Given the description of an element on the screen output the (x, y) to click on. 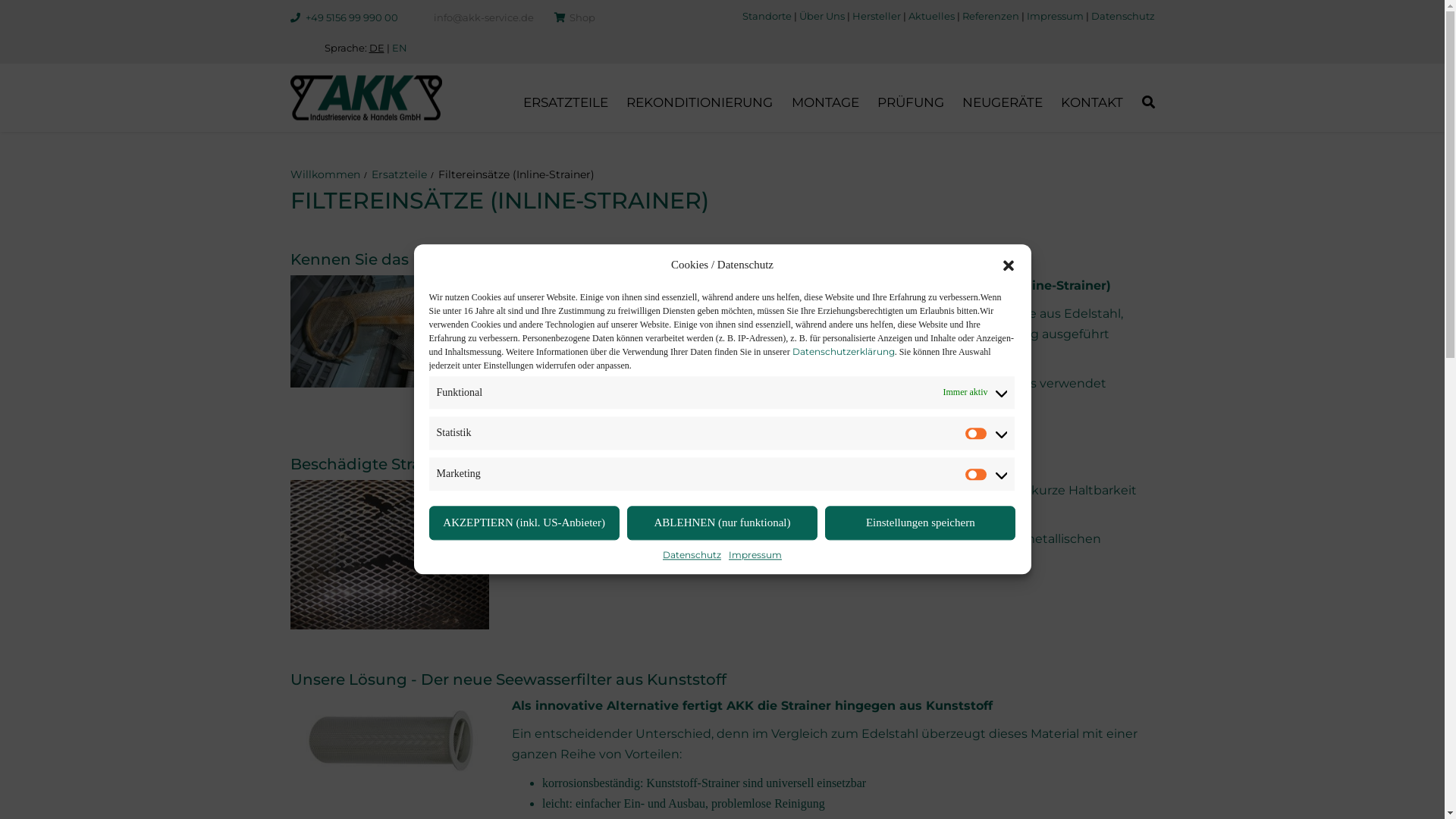
REKONDITIONIERUNG Element type: text (699, 102)
AKZEPTIERN (inkl. US-Anbieter) Element type: text (524, 522)
Ersatzteile Element type: text (398, 174)
info@akk-service.de Element type: text (483, 17)
Impressum Element type: text (1054, 15)
Hersteller Element type: text (876, 15)
Willkommen Element type: text (324, 174)
EN Element type: text (398, 47)
Datenschutz Element type: text (1122, 15)
Datenschutz Element type: text (691, 554)
Standorte Element type: text (765, 15)
Impressum Element type: text (754, 554)
Shop Element type: text (581, 17)
Einstellungen speichern Element type: text (920, 522)
ABLEHNEN (nur funktional) Element type: text (722, 522)
Aktuelles Element type: text (931, 15)
MONTAGE Element type: text (825, 102)
KONTAKT Element type: text (1091, 102)
ERSATZTEILE Element type: text (565, 102)
Referenzen Element type: text (989, 15)
